Given the description of an element on the screen output the (x, y) to click on. 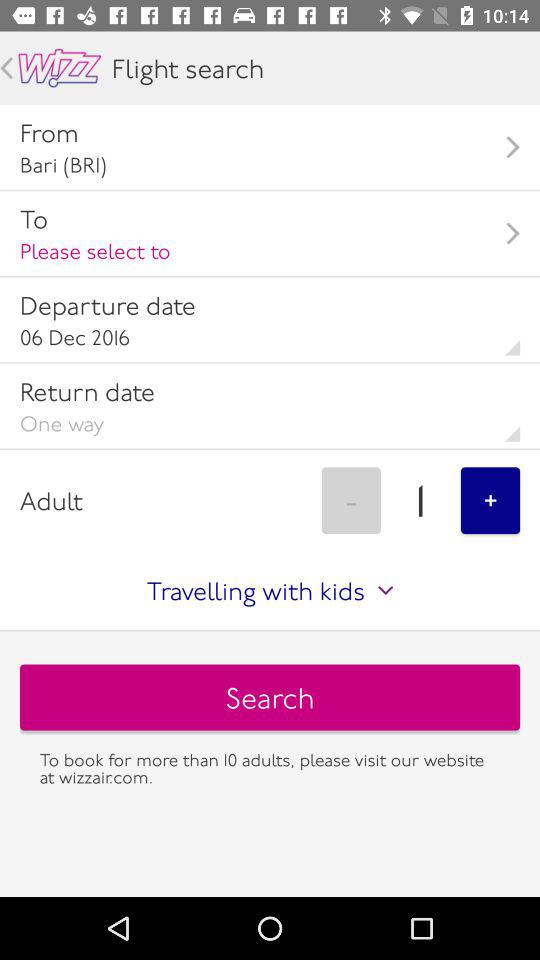
turn off icon to the left of the 1 item (351, 500)
